Given the description of an element on the screen output the (x, y) to click on. 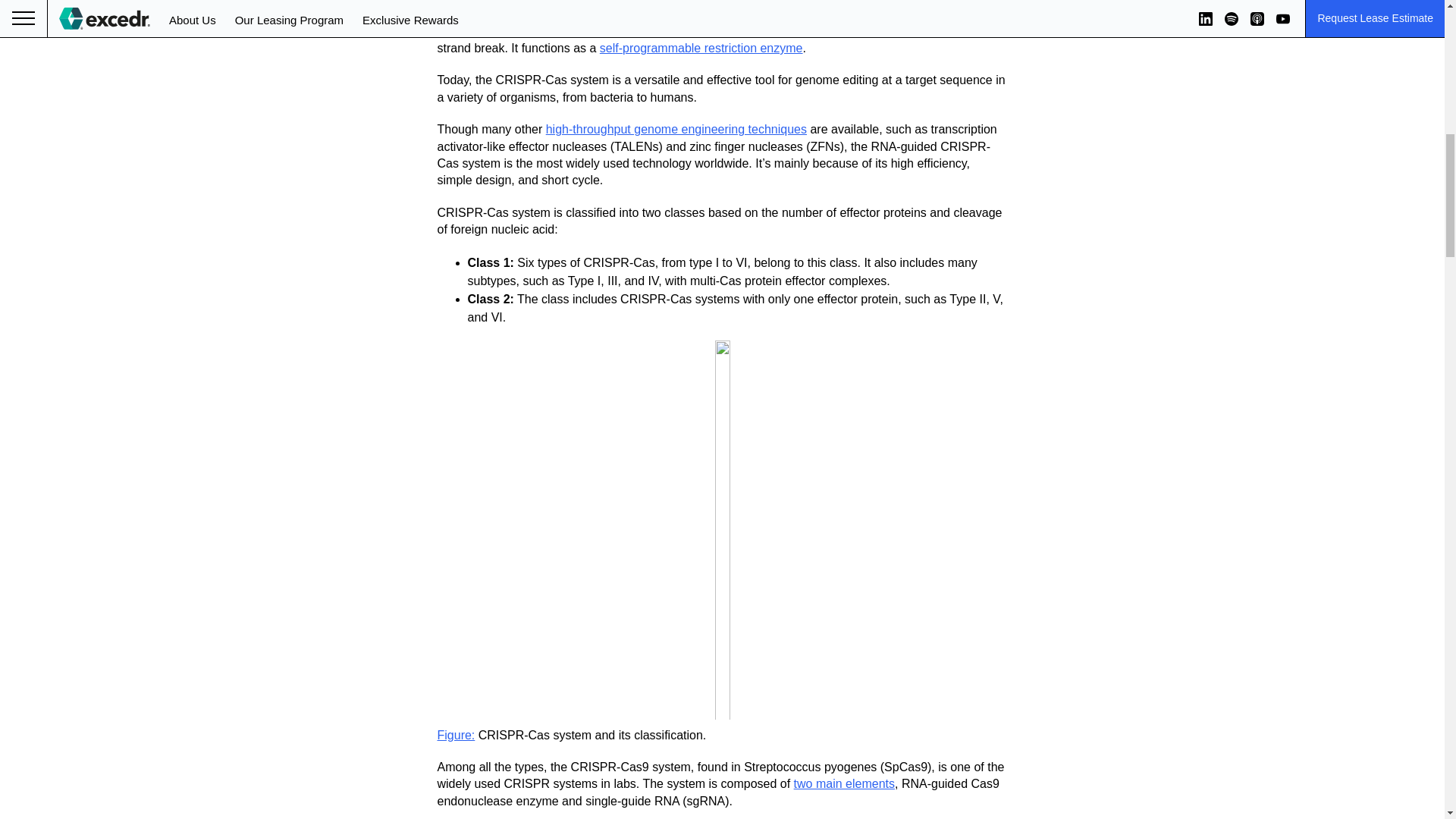
two main elements (844, 783)
Figure: (455, 735)
high-throughput genome engineering techniques (676, 128)
self-programmable restriction enzyme (701, 47)
